Given the description of an element on the screen output the (x, y) to click on. 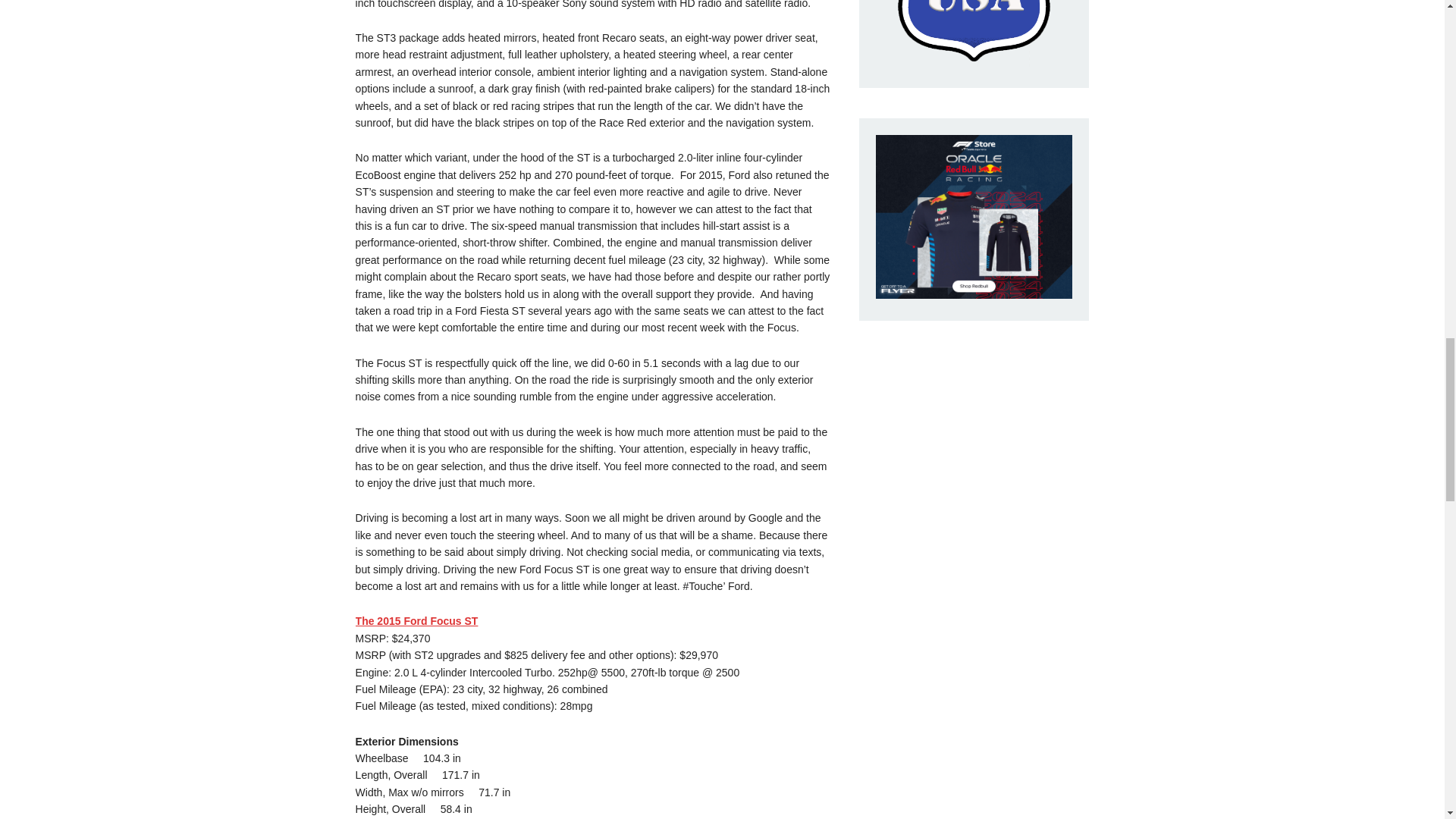
The 2015 Ford Focus ST (417, 621)
